Given the description of an element on the screen output the (x, y) to click on. 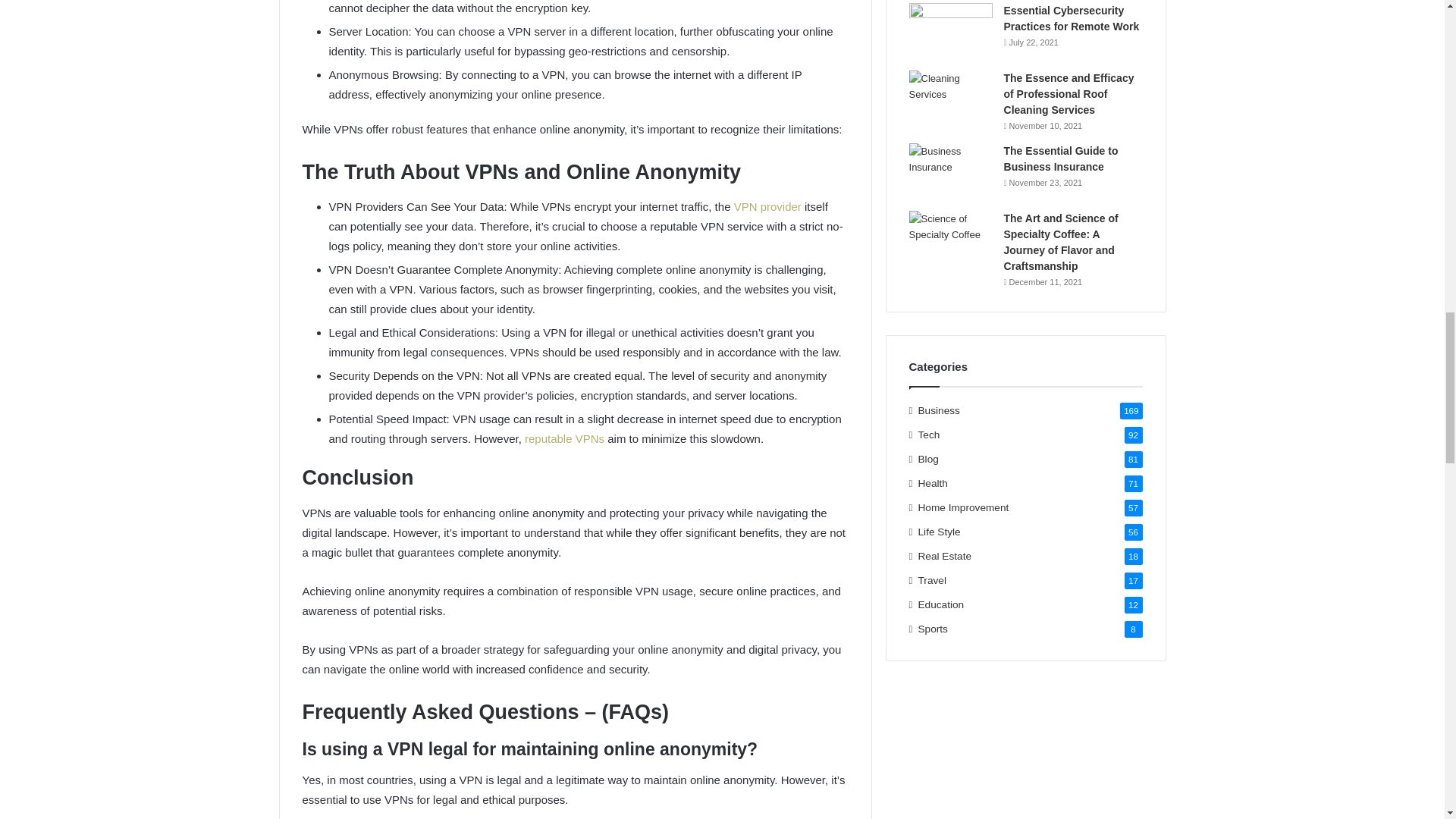
reputable VPNs (564, 438)
VPN provider (767, 205)
